Given the description of an element on the screen output the (x, y) to click on. 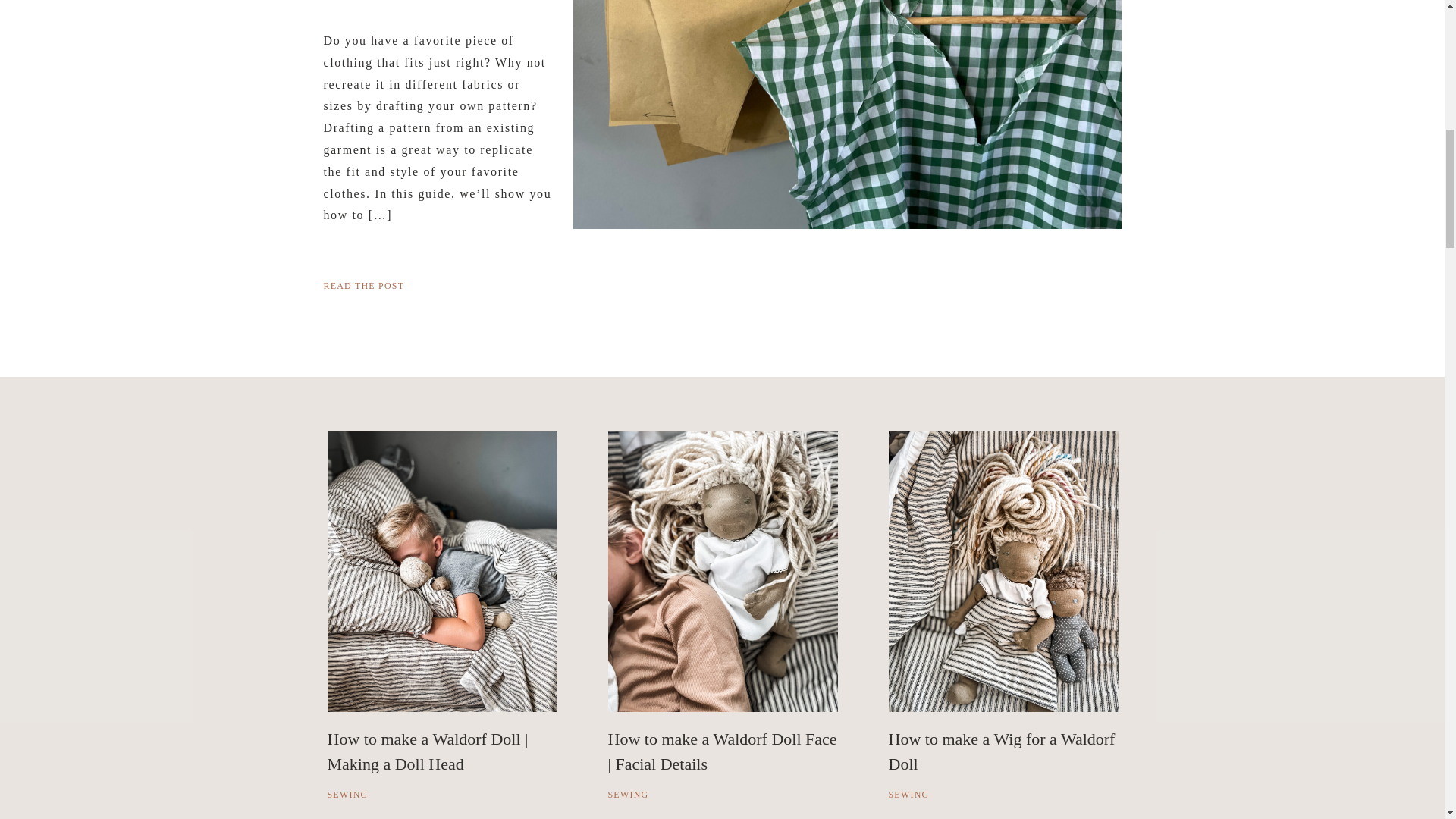
SEWING (347, 794)
READ THE POST (438, 283)
How to Draft a Pattern from Your Favorite Clothes (847, 114)
How to Draft a Pattern from Your Favorite Clothes (438, 283)
How to make a Wig for a Waldorf Doll (1001, 751)
SEWING (909, 794)
SEWING (628, 794)
